Given the description of an element on the screen output the (x, y) to click on. 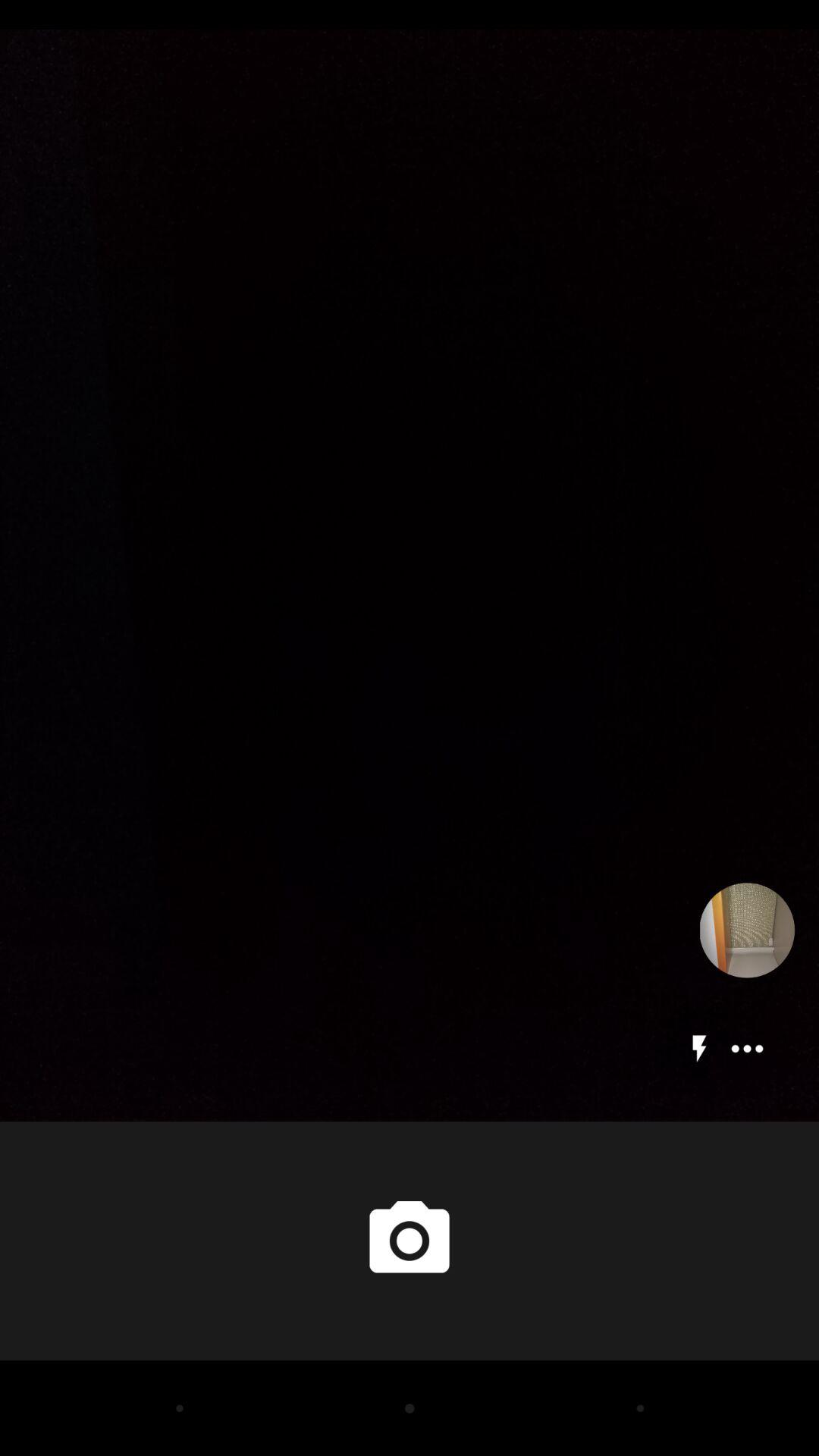
open the item on the right (746, 929)
